Given the description of an element on the screen output the (x, y) to click on. 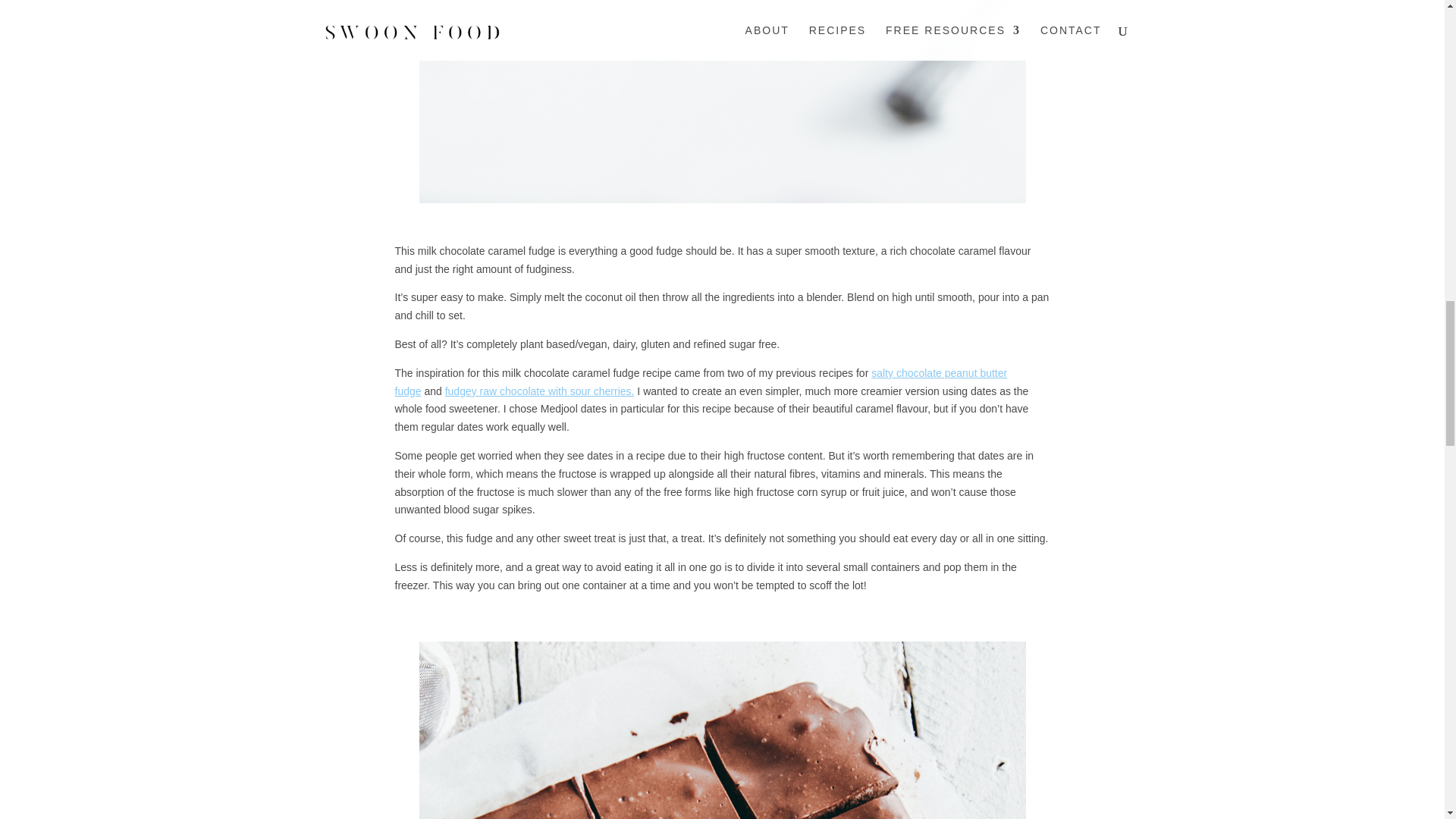
salty chocolate peanut butter fudge (700, 381)
fudgey raw chocolate with sour cherries. (539, 390)
